Given the description of an element on the screen output the (x, y) to click on. 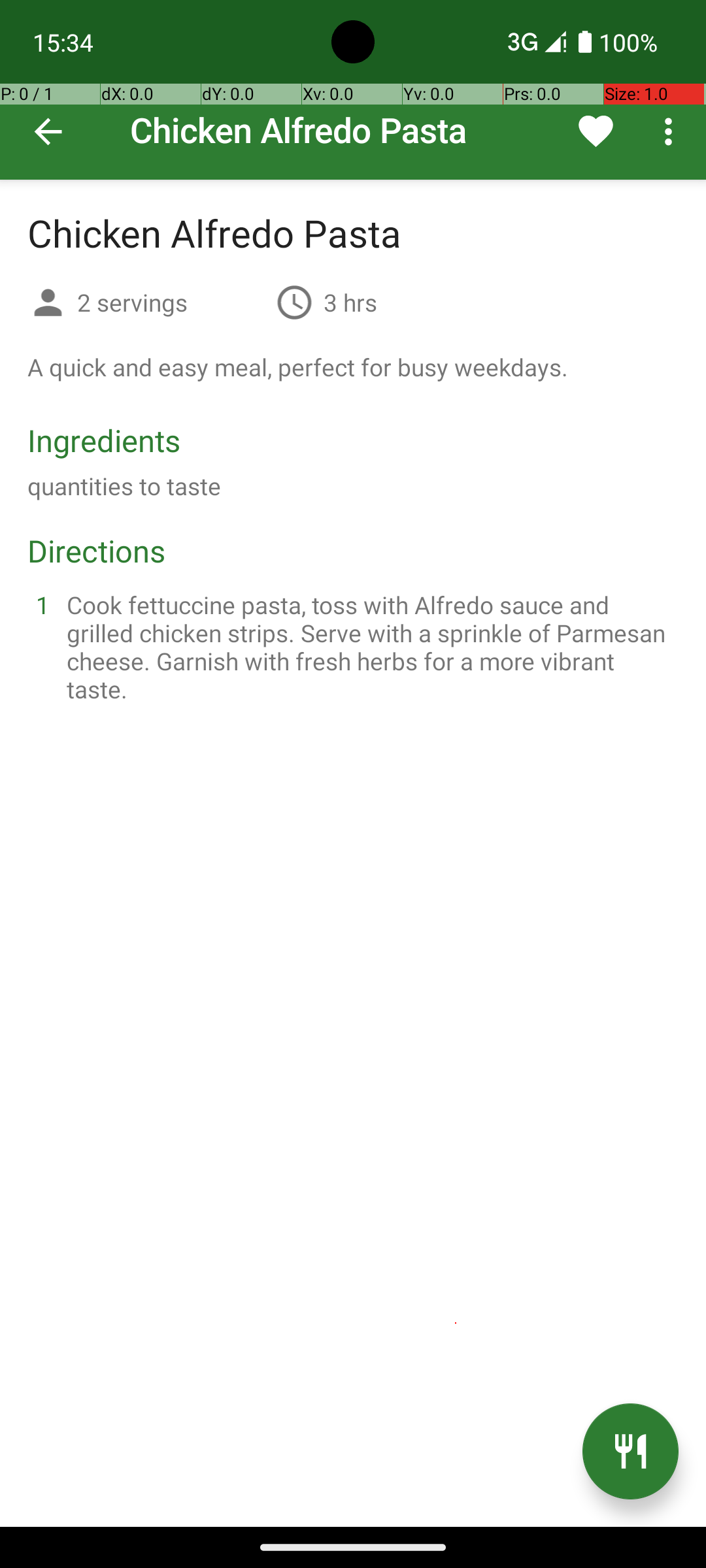
Chicken Alfredo Pasta Element type: android.widget.FrameLayout (353, 89)
Cook Element type: android.widget.ImageButton (630, 1451)
Recipe photo Element type: android.widget.ImageView (353, 89)
Remove from favorites Element type: android.widget.Button (595, 131)
Servings Element type: android.widget.ImageView (47, 303)
2 servings Element type: android.widget.TextView (170, 301)
3 hrs Element type: android.widget.TextView (350, 301)
A quick and easy meal, perfect for busy weekdays. Element type: android.widget.TextView (297, 366)
Ingredients Element type: android.widget.TextView (103, 439)
quantities to taste Element type: android.widget.TextView (123, 485)
Directions Element type: android.widget.TextView (96, 550)
Cook fettuccine pasta, toss with Alfredo sauce and grilled chicken strips. Serve with a sprinkle of Parmesan cheese. Garnish with fresh herbs for a more vibrant taste. Element type: android.widget.TextView (368, 646)
